Given the description of an element on the screen output the (x, y) to click on. 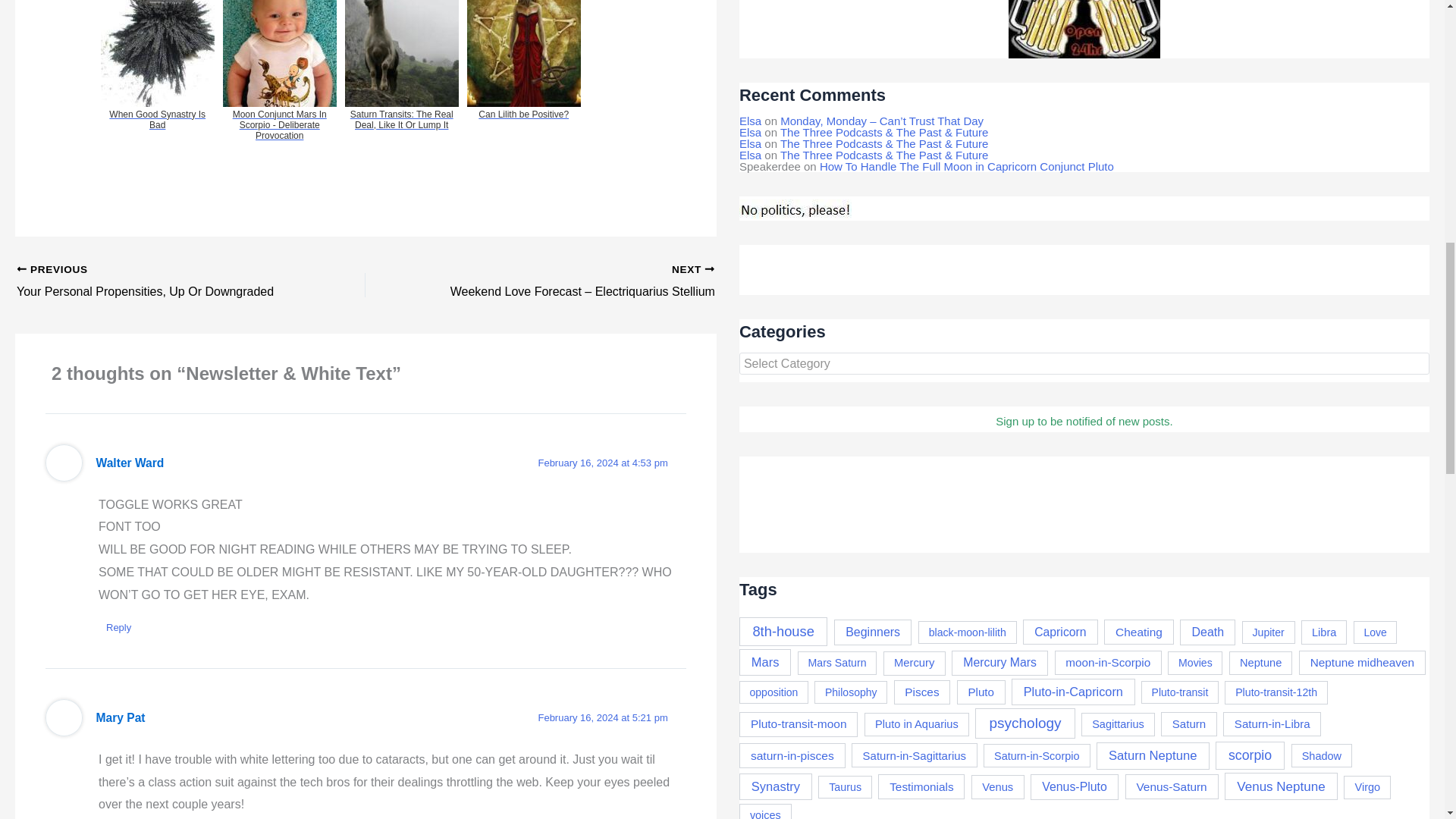
Weekend Love Forecast - Electriquarius Stellium (573, 282)
Your Personal Propensities, Up Or Downgraded (156, 282)
